Given the description of an element on the screen output the (x, y) to click on. 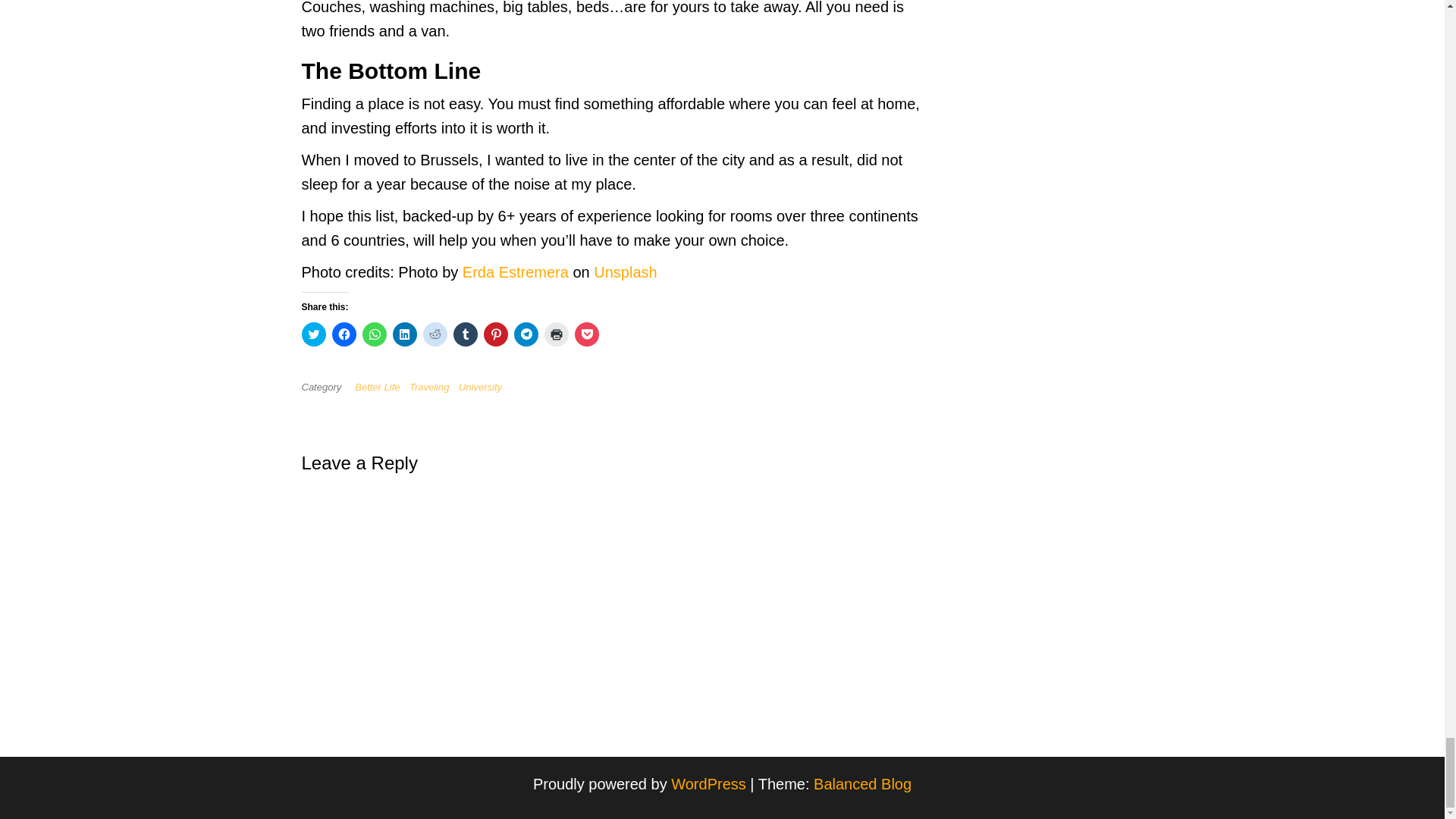
Click to share on Twitter (313, 334)
Erda Estremera (516, 271)
Unsplash (625, 271)
